Given the description of an element on the screen output the (x, y) to click on. 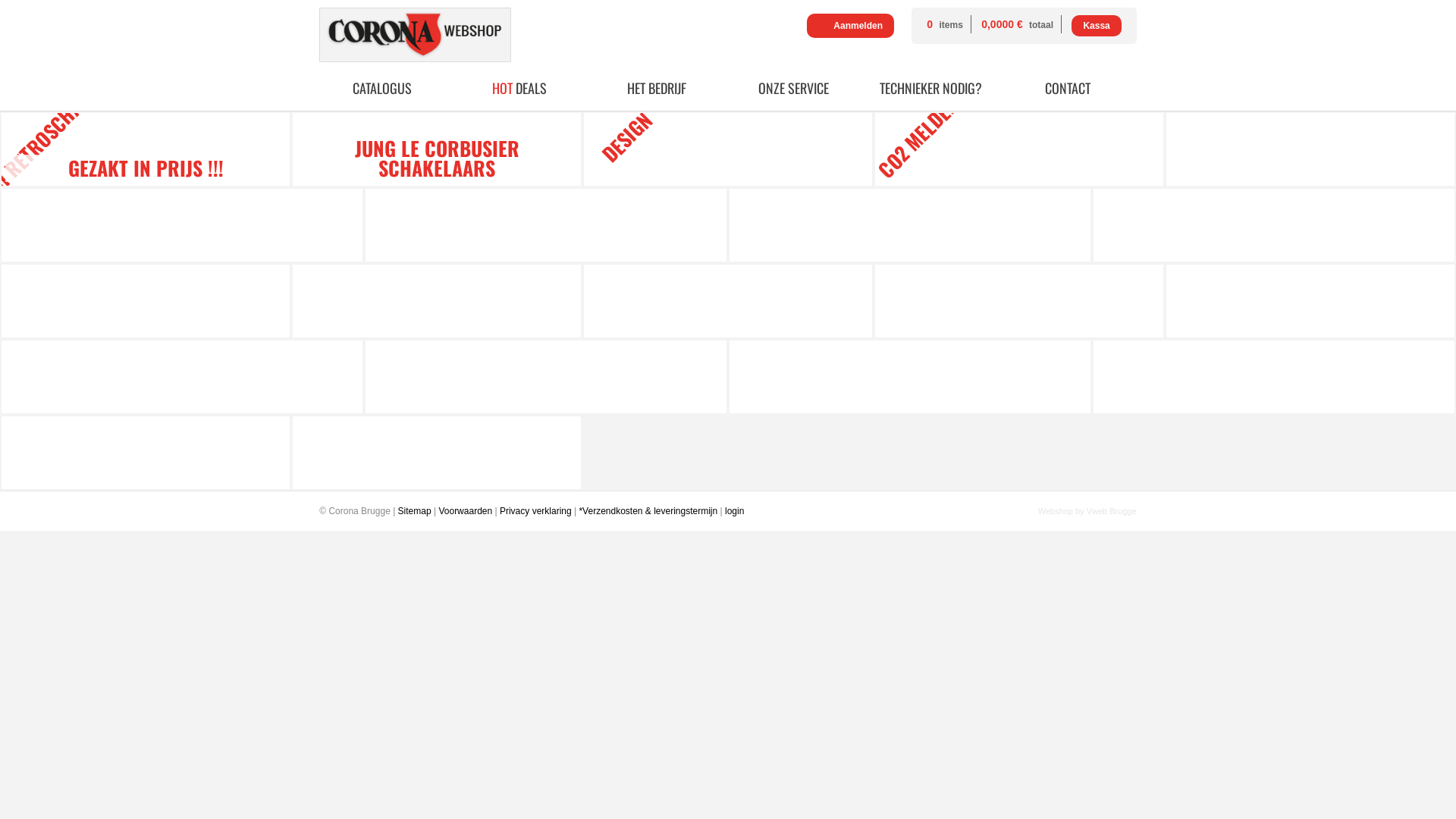
Clara Melone Element type: hover (145, 300)
ONZE SERVICE Element type: text (793, 88)
verwijslink-fontini Element type: hover (145, 148)
Ginger 32 Eik Dimbaar Marset Element type: hover (545, 224)
HOT DEALS Element type: text (519, 88)
Sitemap Element type: text (414, 510)
Serena Koper Flos Element type: hover (727, 300)
Arbor 12PL White Element type: hover (909, 224)
*Verzendkosten & leveringstermijn Element type: text (647, 510)
Kelvin Edge Base Black Flos Element type: hover (1310, 148)
Totem III Element type: hover (1019, 300)
Folder white Davide Groppi Element type: hover (1273, 376)
Nostalgia Medium Roos Element type: hover (909, 376)
Superloon Black Flos Element type: hover (1273, 224)
Voorwaarden Element type: text (465, 510)
Aanmelden Element type: text (850, 25)
Ginger XL 42 Marset Element type: hover (436, 300)
Aim black Flos Element type: hover (436, 452)
verwijslink-bticinolivingnow Element type: hover (727, 148)
Kassa Element type: text (1095, 25)
Webshop by Vweb Brugge Element type: text (1087, 511)
Assolo 70 White Ceiling Element type: hover (181, 376)
Sampei 230 black Davide Groppi Element type: hover (1310, 300)
CONTACT Element type: text (1067, 88)
Privacy verklaring Element type: text (535, 510)
CATALOGUS Element type: text (382, 88)
login Element type: text (733, 510)
HET BEDRIJF Element type: text (656, 88)
Clara Suspensione 4 Element type: hover (181, 224)
Tilt S | zwart-wit Element type: hover (145, 452)
(TV011) Technoline CO2 luchtkwaliteitmeter Element type: hover (1019, 148)
TECHNIEKER NODIG? Element type: text (931, 88)
verwijslink-jung-lecorbusier Element type: hover (436, 148)
Andromeda Suspension White Element type: hover (545, 376)
